Given the description of an element on the screen output the (x, y) to click on. 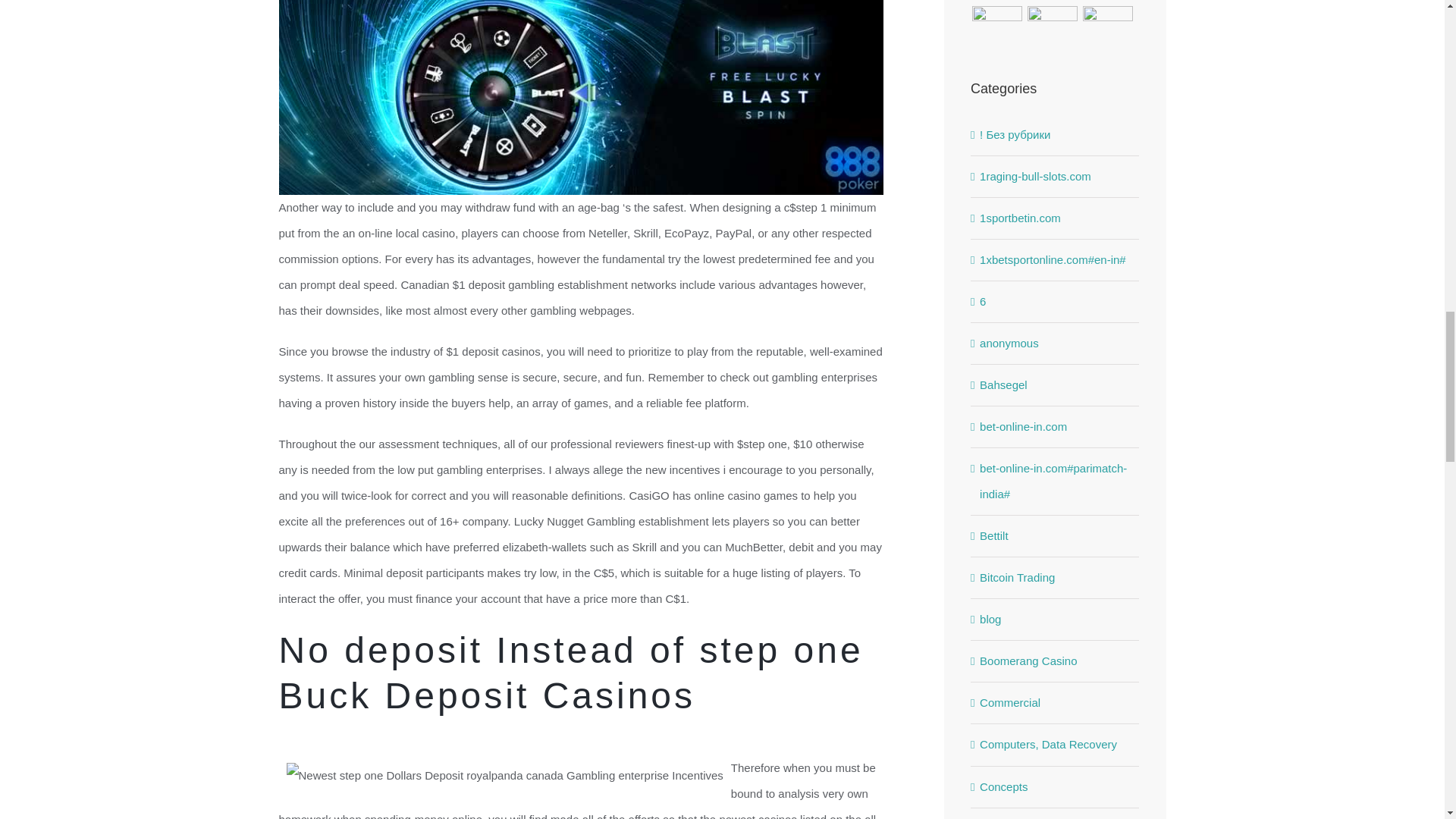
Manchester Airport (1107, 1)
West Shinjuku (1052, 1)
Danish Modernity (997, 1)
